Given the description of an element on the screen output the (x, y) to click on. 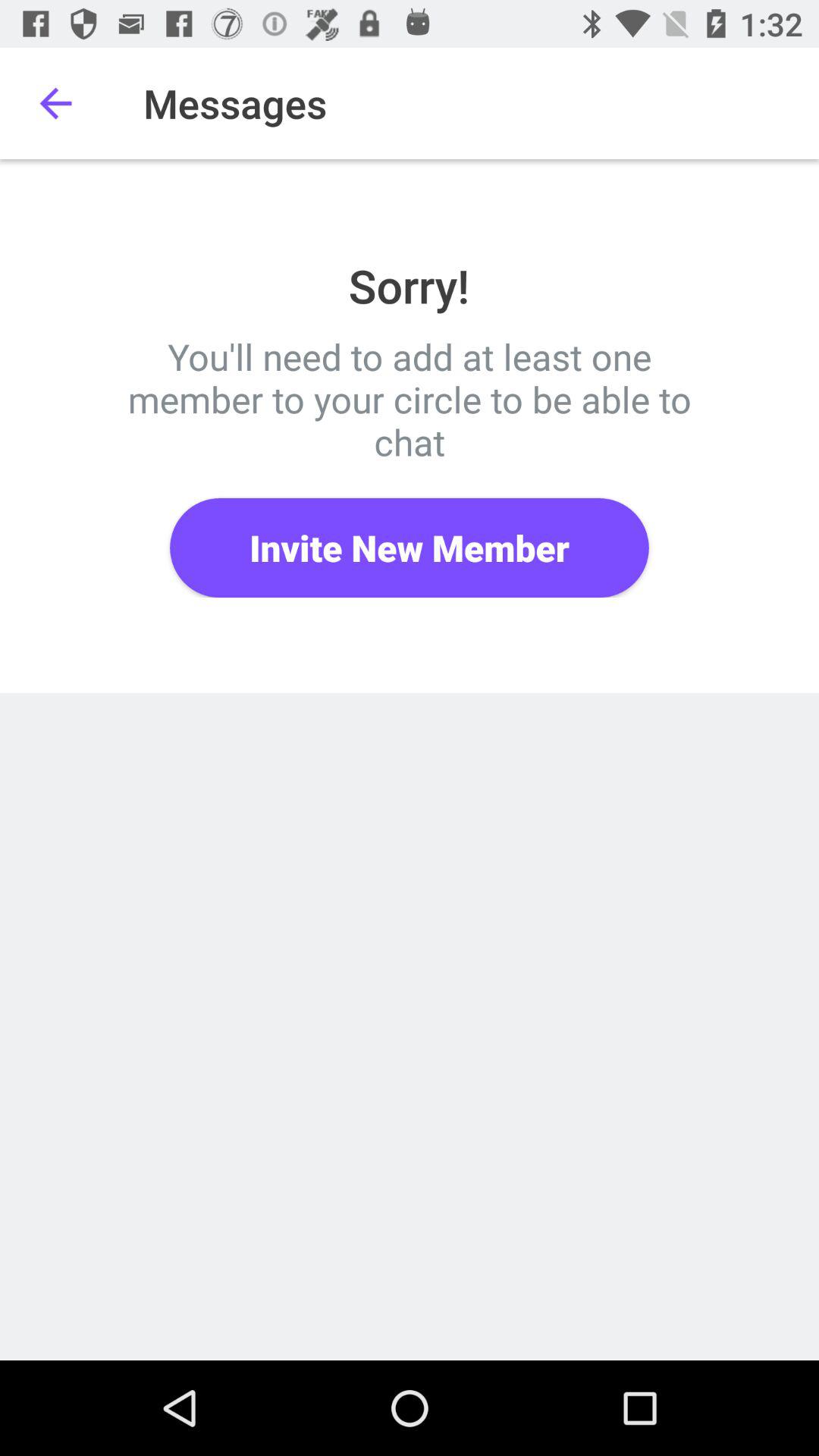
turn on invite new member (409, 547)
